Given the description of an element on the screen output the (x, y) to click on. 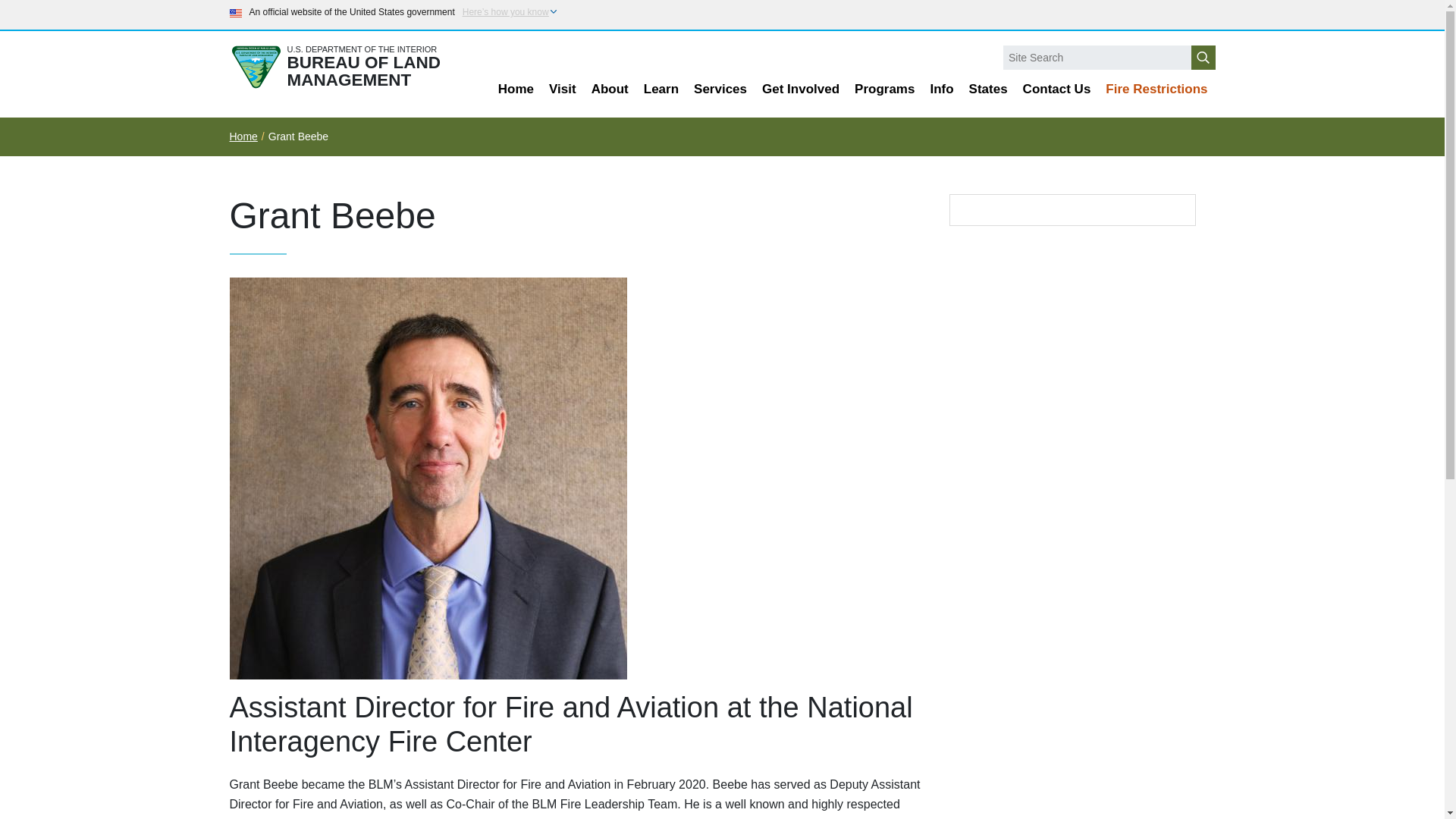
Submit (1202, 57)
Home (515, 89)
About (609, 89)
Visit (562, 89)
Submit (1202, 57)
Bureau of Land Management Home Page (347, 66)
Learn (660, 89)
